Given the description of an element on the screen output the (x, y) to click on. 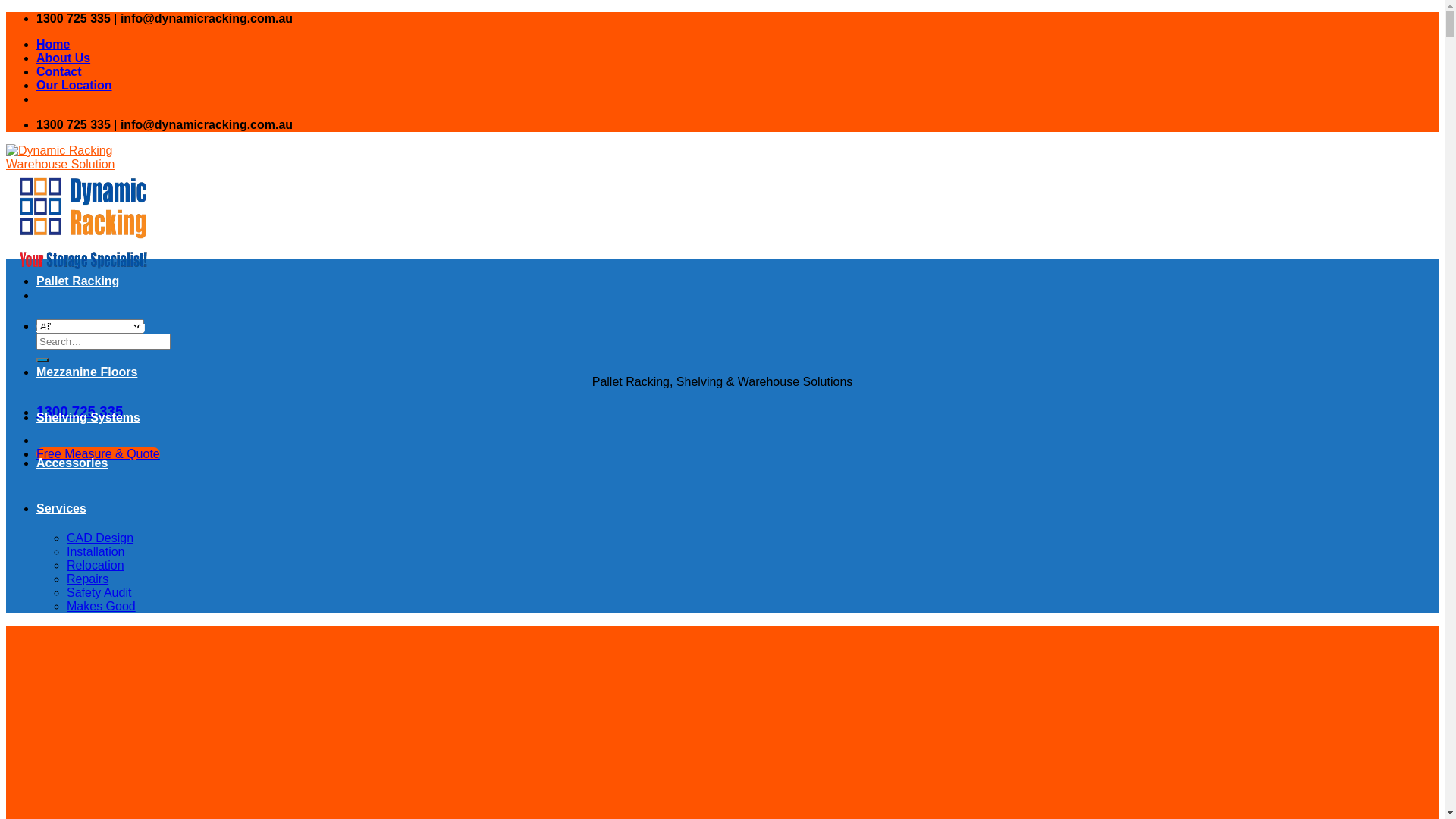
1300 725 335 Element type: text (79, 411)
Relocation Element type: text (95, 564)
Makes Good Element type: text (100, 605)
Services Element type: text (61, 508)
Shelving Systems Element type: text (88, 417)
Free Measure & Quote Element type: text (98, 453)
Our Location Element type: text (74, 84)
Contact Element type: text (58, 71)
Installation Element type: text (95, 551)
Accessories Element type: text (71, 462)
CAD Design Element type: text (99, 537)
Pallet Racking Element type: text (77, 280)
Skip to content Element type: text (5, 11)
Home Element type: text (52, 43)
Cantilever Racking Element type: text (90, 326)
About Us Element type: text (63, 57)
Safety Audit Element type: text (98, 592)
Mezzanine Floors Element type: text (86, 371)
Repairs Element type: text (87, 578)
